Given the description of an element on the screen output the (x, y) to click on. 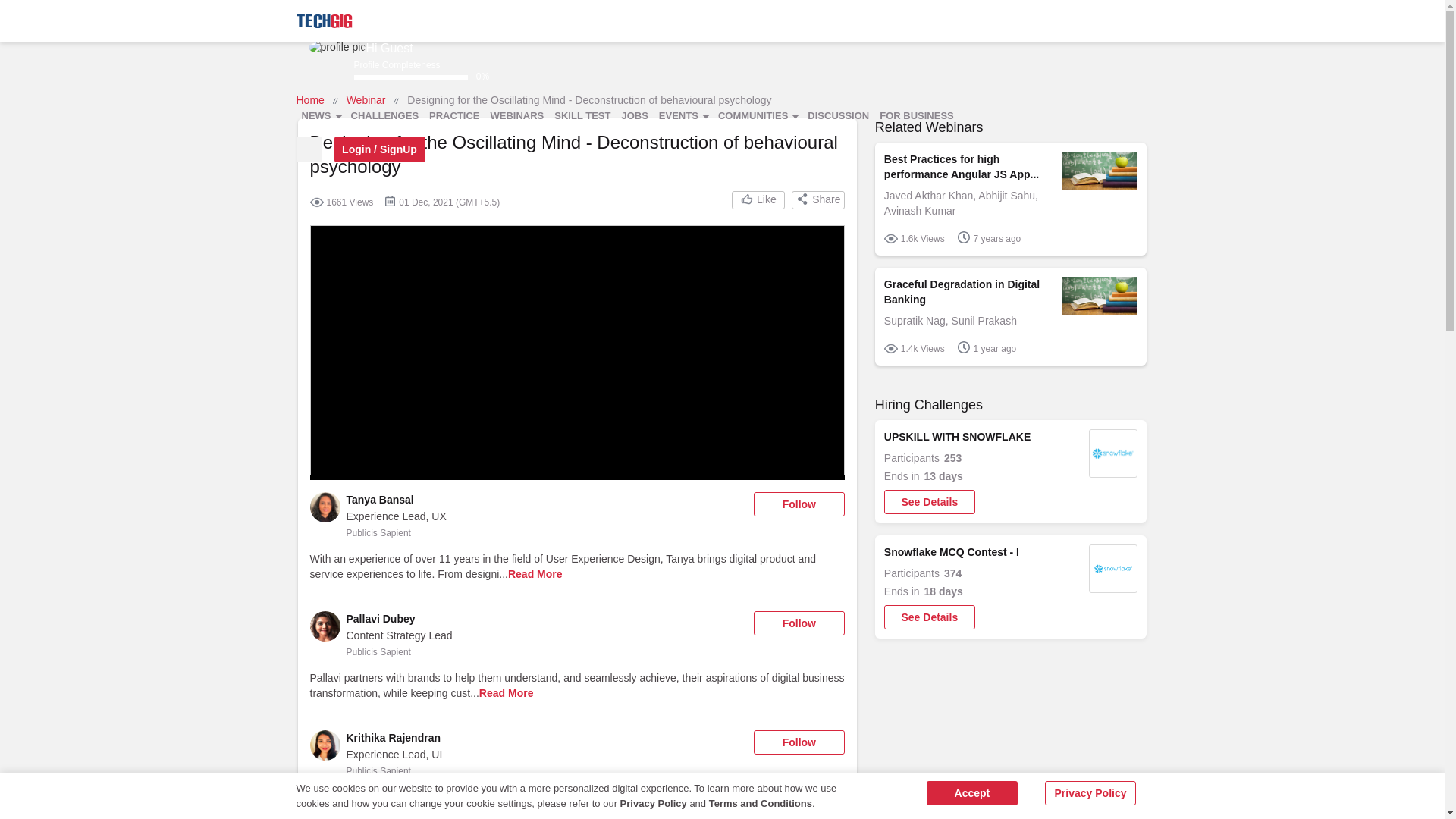
JOBS (633, 115)
Follow Speaker (799, 622)
PRACTICE (453, 115)
WEBINARS (517, 115)
Follow Speaker (799, 504)
NEWS (320, 115)
Follow Speaker (799, 742)
SKILL TEST (581, 115)
COMMUNITIES (757, 115)
CHALLENGES (385, 115)
